Given the description of an element on the screen output the (x, y) to click on. 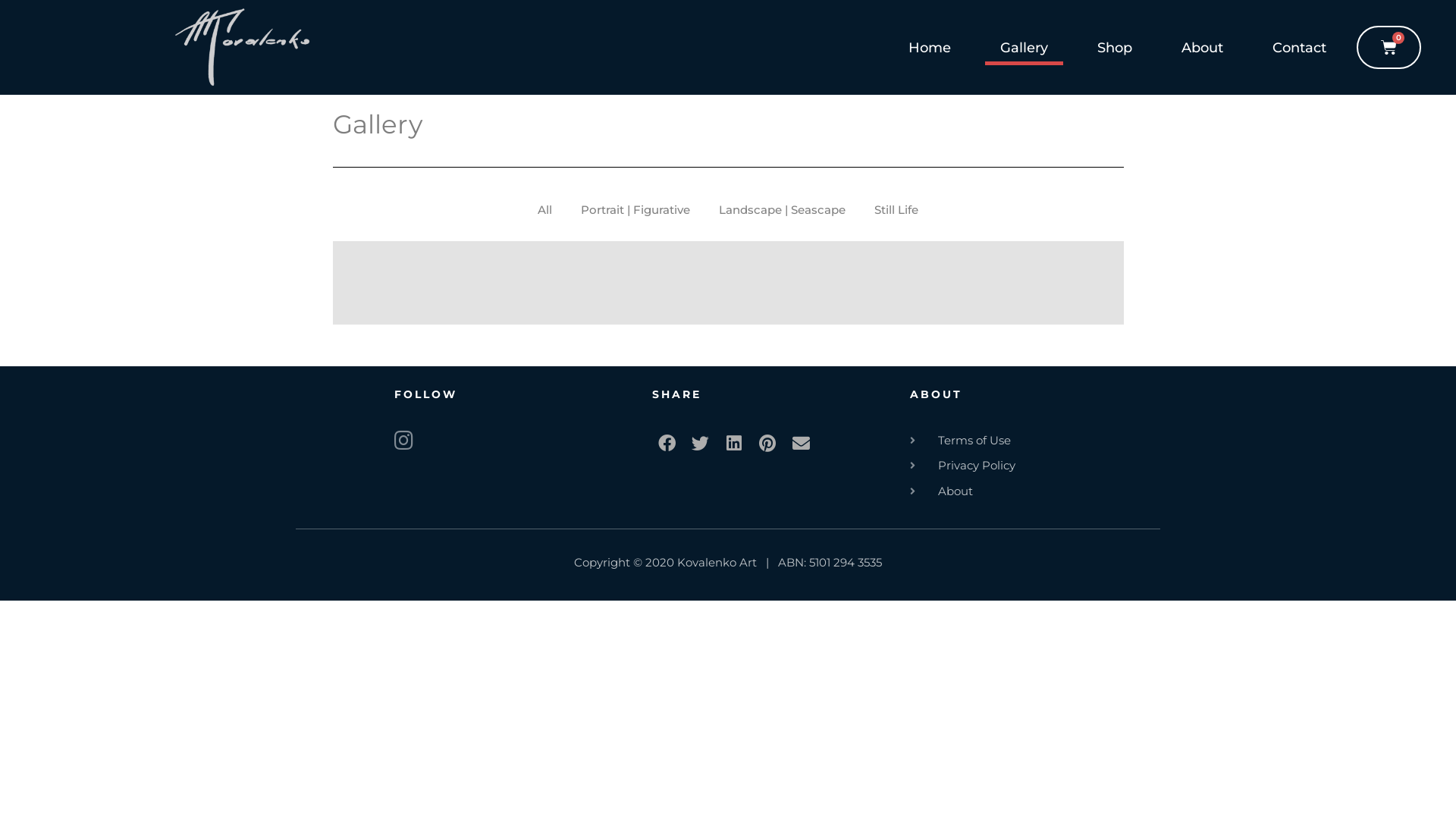
Still Life Element type: text (895, 209)
All Element type: text (544, 209)
Landscape | Seascape Element type: text (782, 209)
Contact Element type: text (1299, 47)
About Element type: text (1031, 491)
Gallery Element type: text (1024, 47)
Shop Element type: text (1114, 47)
Privacy Policy Element type: text (1031, 465)
About Element type: text (1202, 47)
Home Element type: text (929, 47)
Terms of Use Element type: text (1031, 440)
Portrait | Figurative Element type: text (635, 209)
